Given the description of an element on the screen output the (x, y) to click on. 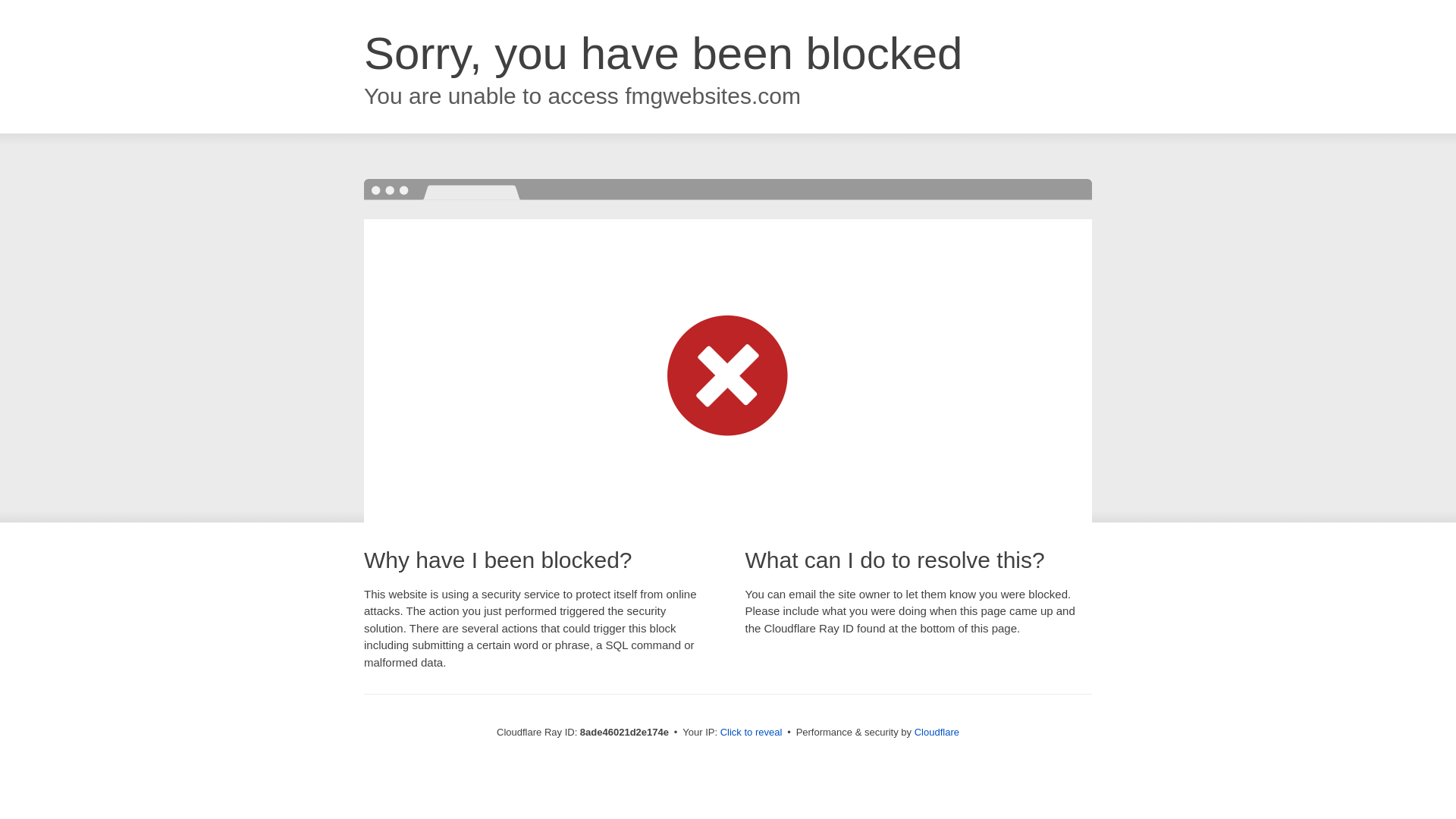
Click to reveal (751, 732)
Cloudflare (936, 731)
